Given the description of an element on the screen output the (x, y) to click on. 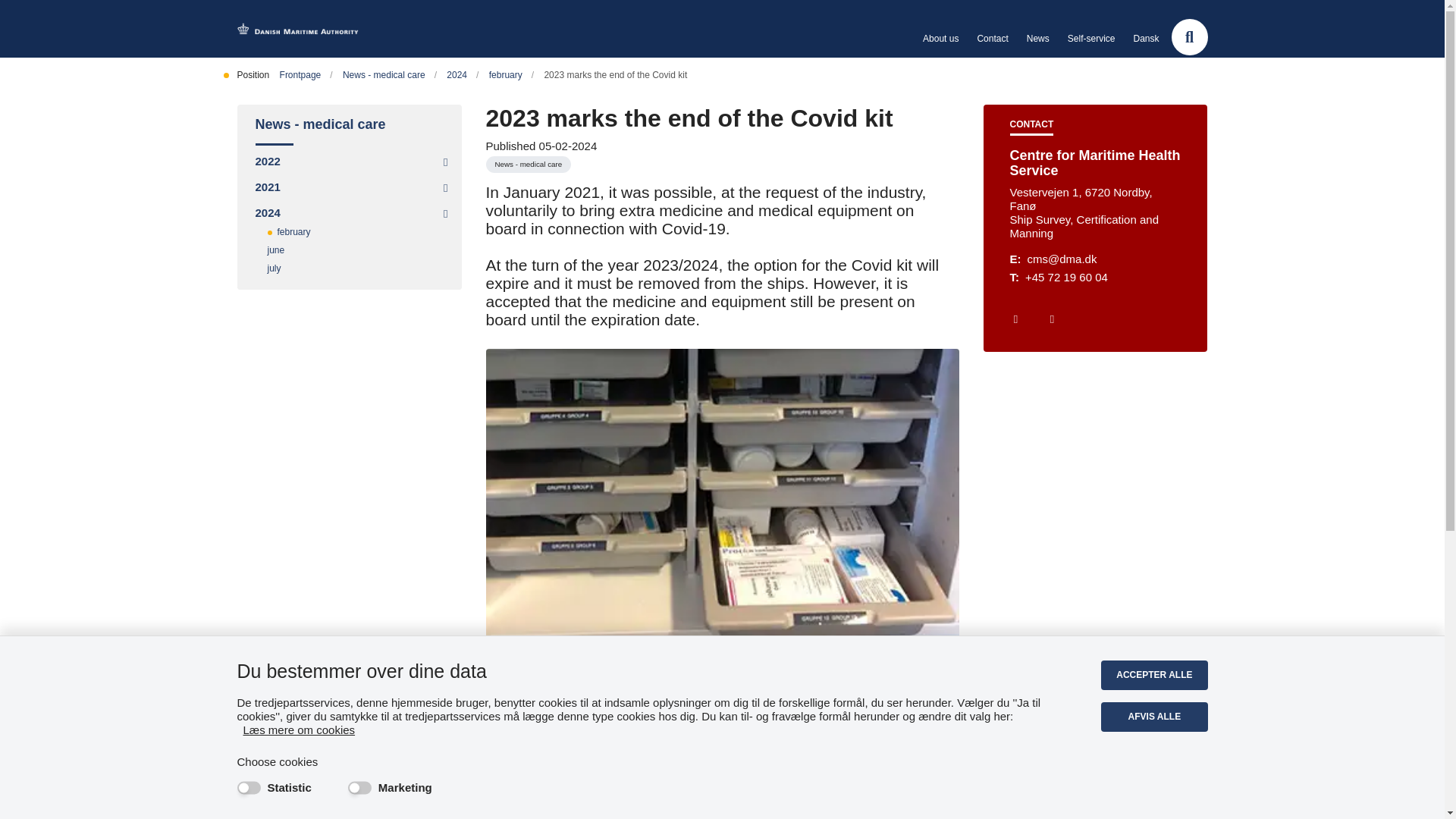
About us (940, 38)
Dansk (1145, 38)
february (511, 74)
2022 (276, 161)
News - medical care (389, 74)
News (1037, 38)
2024 (462, 74)
Frontpage (306, 74)
Contact (991, 38)
Self-service (1091, 38)
News - medical care (348, 124)
